Given the description of an element on the screen output the (x, y) to click on. 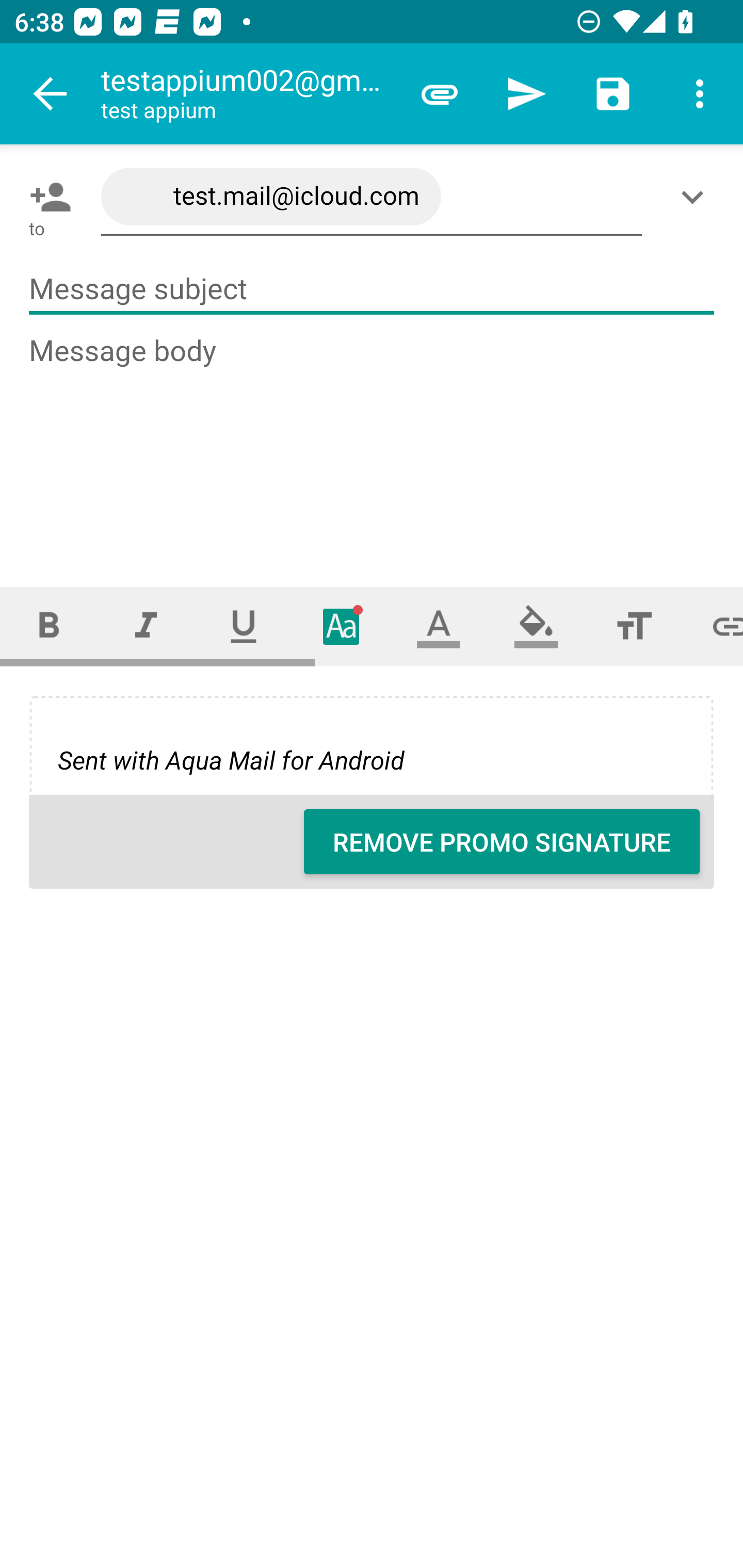
Navigate up (50, 93)
testappium002@gmail.com test appium (248, 93)
Attach (439, 93)
Send (525, 93)
Save (612, 93)
More options (699, 93)
test.mail@icloud.com,  (371, 197)
Pick contact: To (46, 196)
Show/Add CC/BCC (696, 196)
Message subject (371, 288)
Message body (372, 442)
Bold (48, 626)
Italic (145, 626)
Underline (243, 626)
Typeface (font) (341, 626)
Text color (438, 626)
Fill color (536, 626)
Font size (633, 626)
REMOVE PROMO SIGNATURE (501, 841)
